Given the description of an element on the screen output the (x, y) to click on. 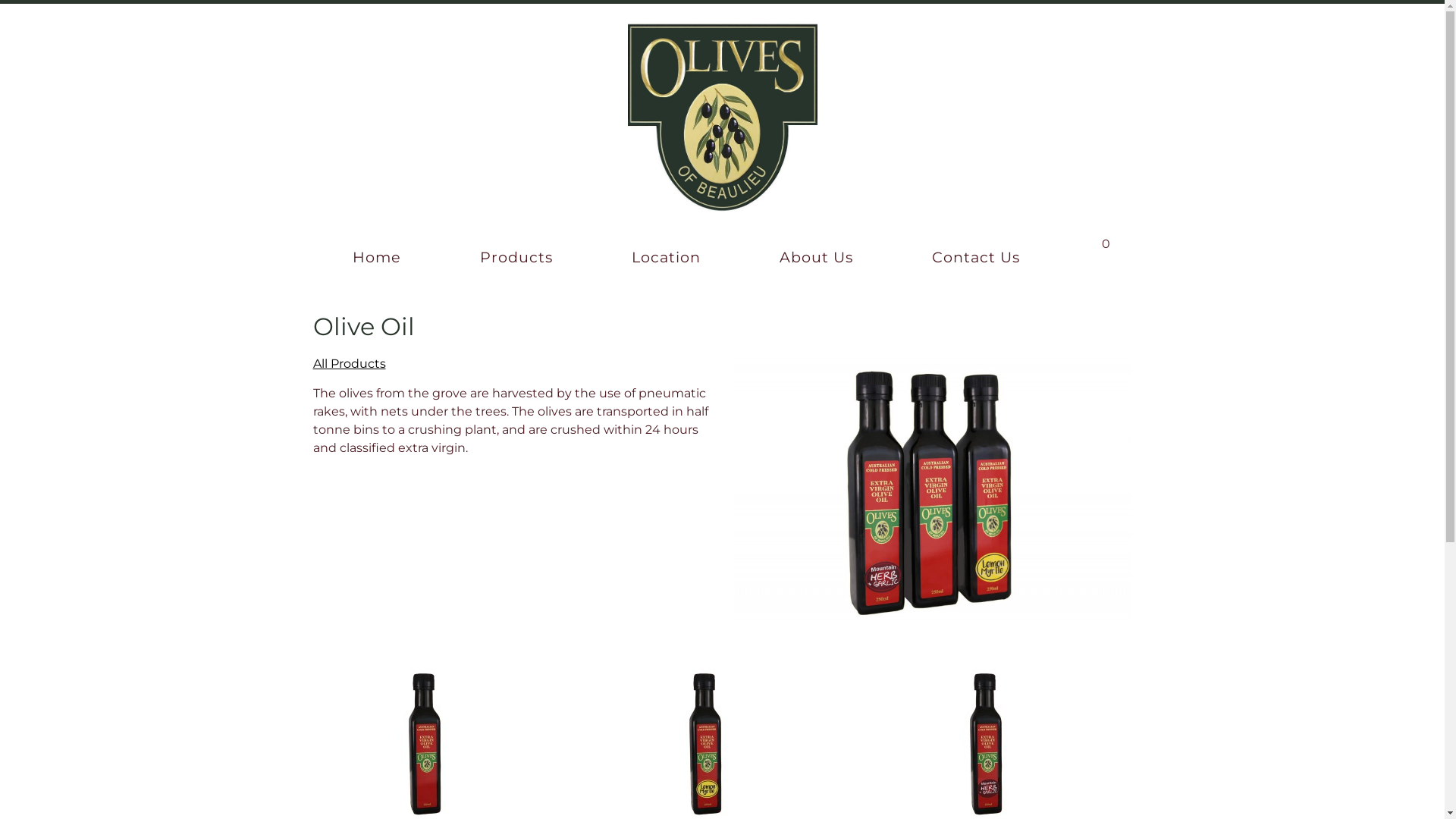
Home Element type: text (377, 256)
All Products Element type: text (348, 363)
0 Element type: text (1117, 240)
Products Element type: text (516, 256)
About Us Element type: text (816, 256)
Location Element type: text (666, 256)
Contact Us Element type: text (975, 256)
